Given the description of an element on the screen output the (x, y) to click on. 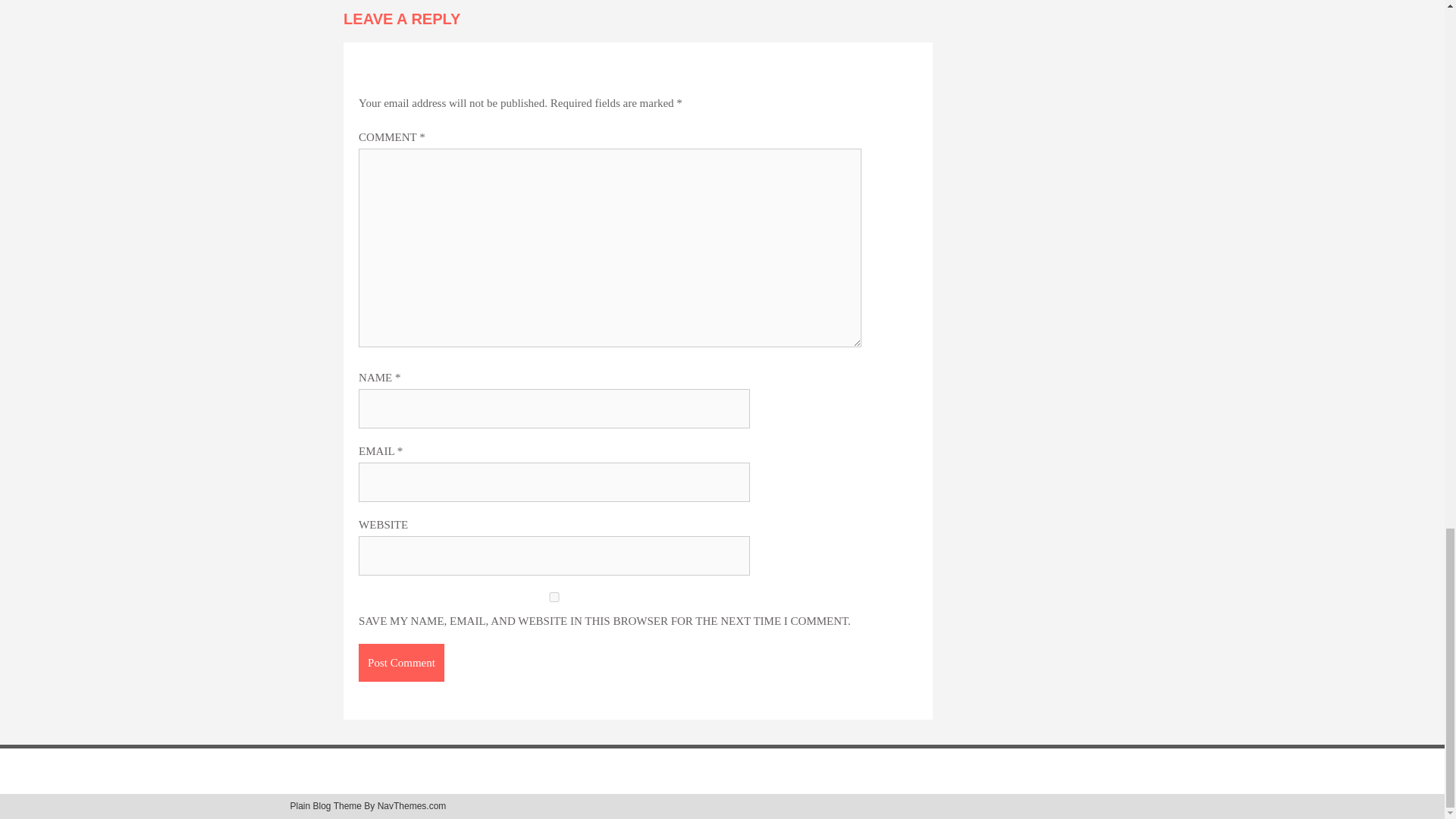
NavThemes.com (411, 805)
Post Comment (401, 662)
Plain Blog Theme (325, 805)
yes (553, 596)
Post Comment (401, 662)
